Given the description of an element on the screen output the (x, y) to click on. 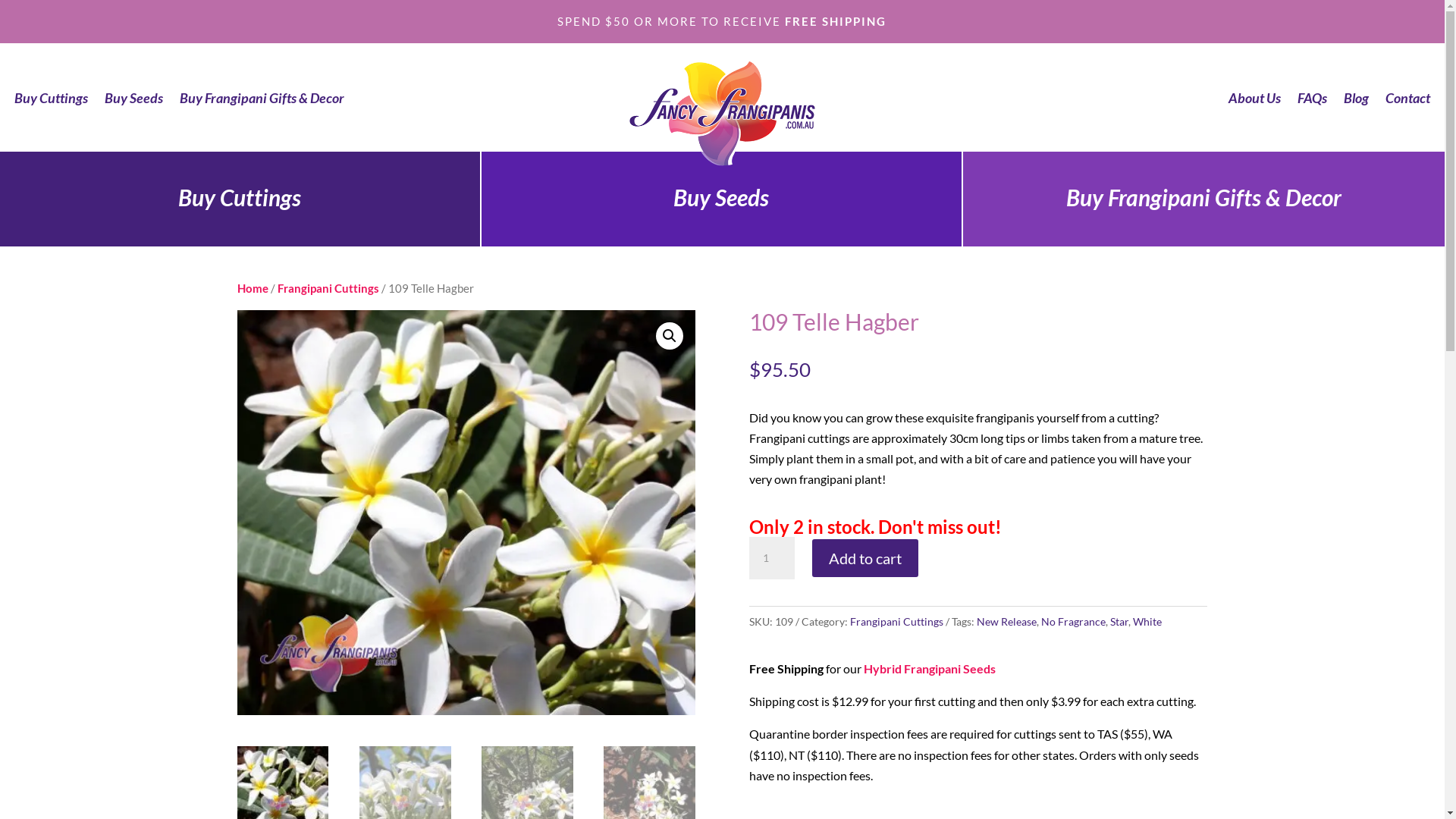
Blog Element type: text (1355, 100)
Hybrid Frangipani Seeds Element type: text (929, 668)
About Us Element type: text (1254, 100)
Add to cart Element type: text (865, 558)
Frangipani Cuttings Element type: text (328, 287)
No Fragrance Element type: text (1073, 621)
Star Element type: text (1119, 621)
Home Element type: text (251, 287)
Buy Cuttings Element type: text (50, 100)
New Release Element type: text (1006, 621)
FAQs Element type: text (1312, 100)
Frangipani Cuttings Element type: text (896, 621)
White Element type: text (1146, 621)
Contact Element type: text (1407, 100)
Buy Seeds Element type: text (133, 100)
Buy Frangipani Gifts & Decor Element type: text (261, 100)
